Given the description of an element on the screen output the (x, y) to click on. 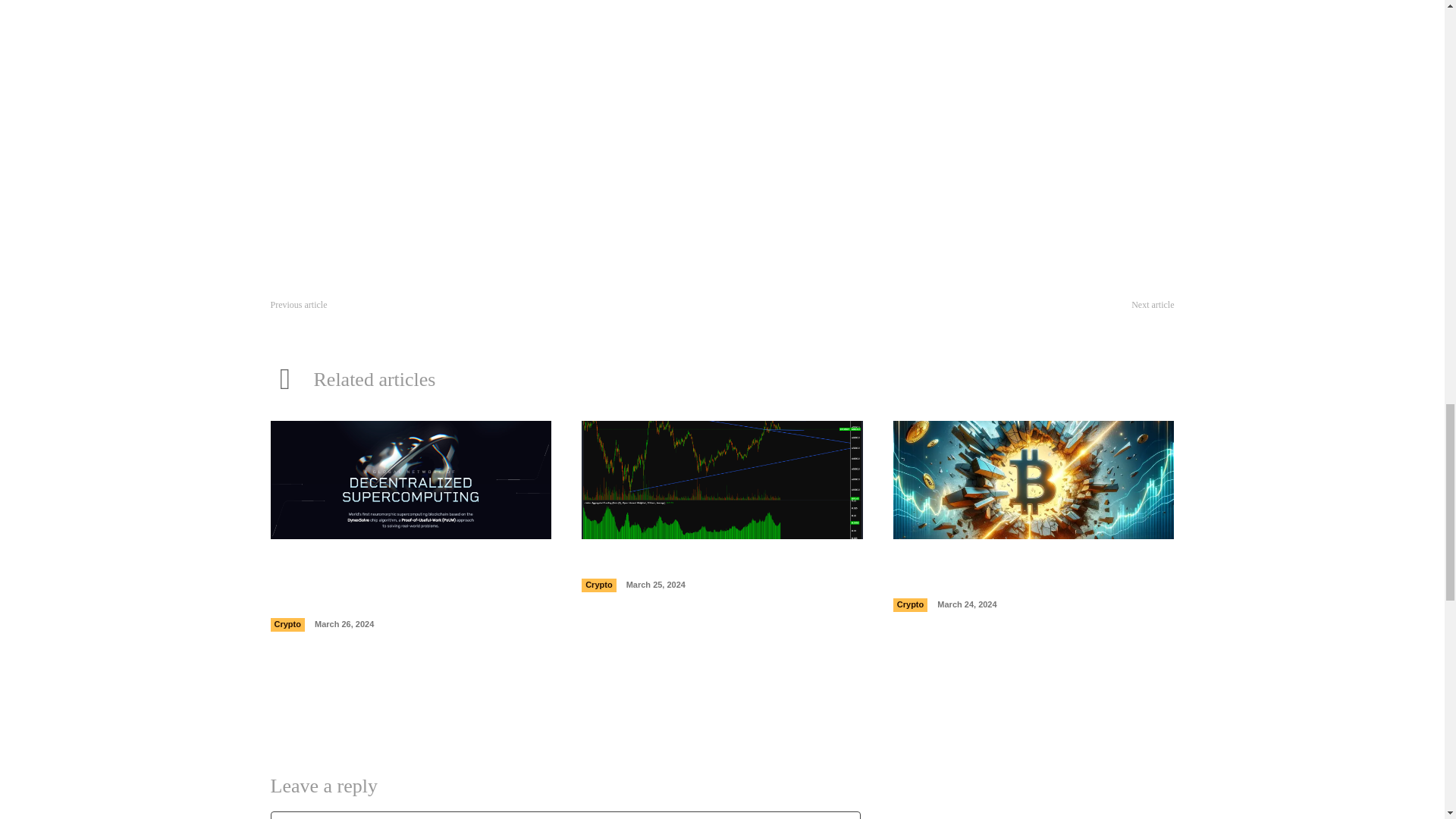
Lucas Peterson (459, 88)
